Given the description of an element on the screen output the (x, y) to click on. 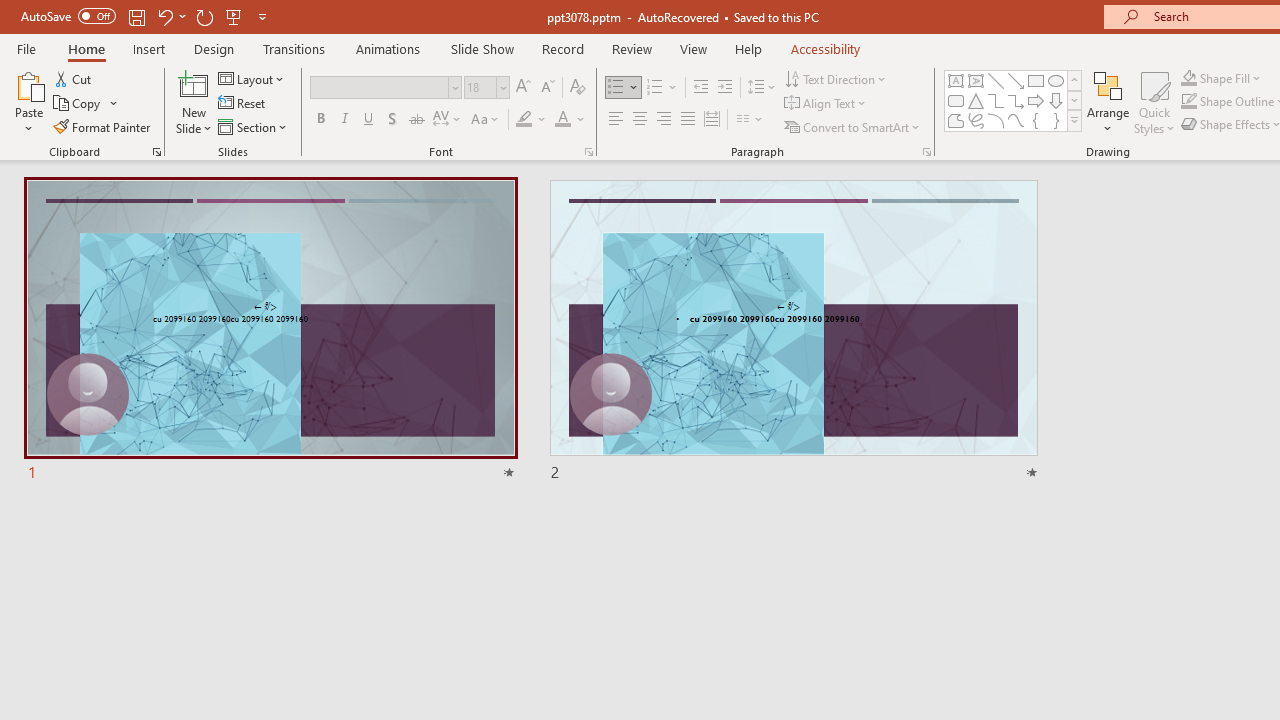
Italic (344, 119)
Text Direction (836, 78)
Format Painter (103, 126)
Columns (750, 119)
Align Text (826, 103)
Line Arrow (1016, 80)
Freeform: Shape (955, 120)
Align Right (663, 119)
